Given the description of an element on the screen output the (x, y) to click on. 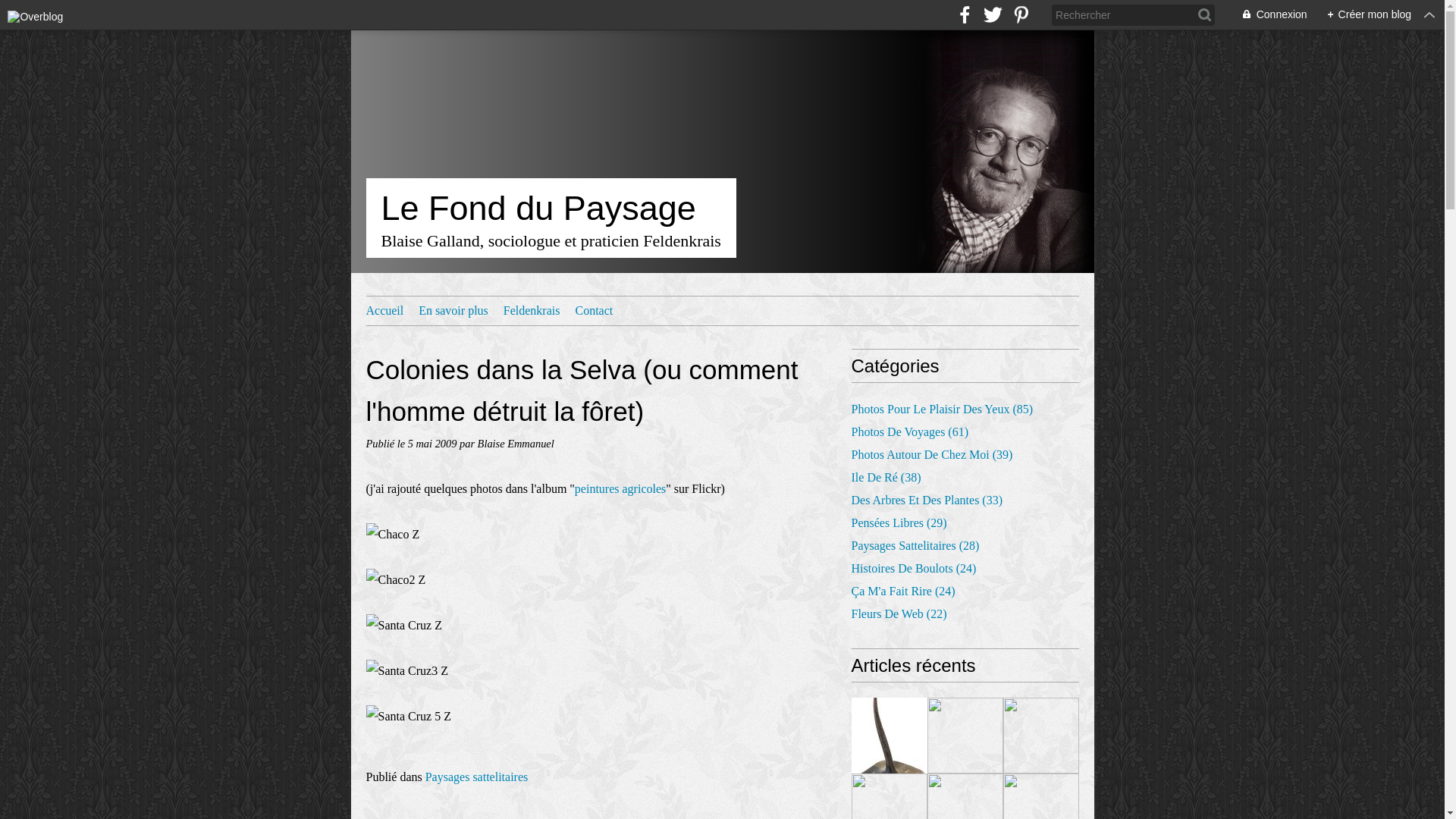
Accueil Element type: text (384, 310)
Fleurs De Web (22) Element type: text (898, 613)
 twitter Element type: hover (992, 14)
Paysages sattelitaires Element type: text (476, 776)
Histoires De Boulots (24) Element type: text (912, 567)
En savoir plus Element type: text (453, 310)
peintures agricoles Element type: text (619, 488)
Photos Pour Le Plaisir Des Yeux (85) Element type: text (941, 408)
Connexion Element type: text (1266, 14)
Paysages Sattelitaires (28) Element type: text (914, 545)
Photos De Voyages (61) Element type: text (909, 431)
Des Arbres Et Des Plantes (33) Element type: text (926, 499)
 pinterest Element type: hover (1020, 14)
Feldenkrais Element type: text (531, 310)
Le Fond du Paysage Element type: text (550, 208)
Photos Autour De Chez Moi (39) Element type: text (931, 454)
 facebook Element type: hover (964, 14)
Contact Element type: text (593, 310)
